Given the description of an element on the screen output the (x, y) to click on. 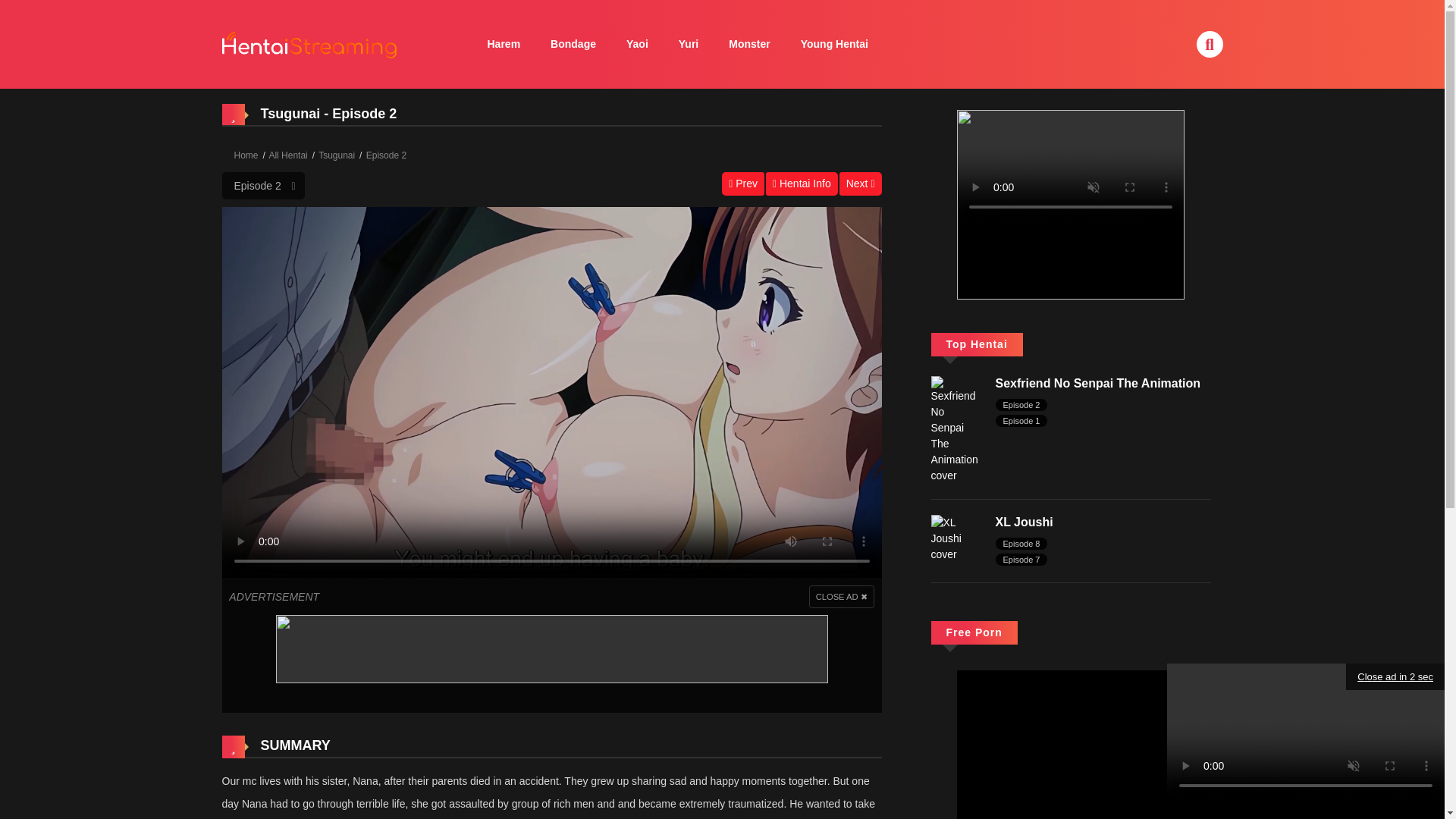
Yaoi (637, 44)
Sexfriend No Senpai The Animation (1096, 382)
Young Hentai (834, 44)
Hentai Info (801, 183)
Search (980, 9)
XL Joushi (955, 537)
All Hentai (287, 154)
Yuri (688, 44)
Home (244, 154)
Hentai Stream (309, 42)
